Given the description of an element on the screen output the (x, y) to click on. 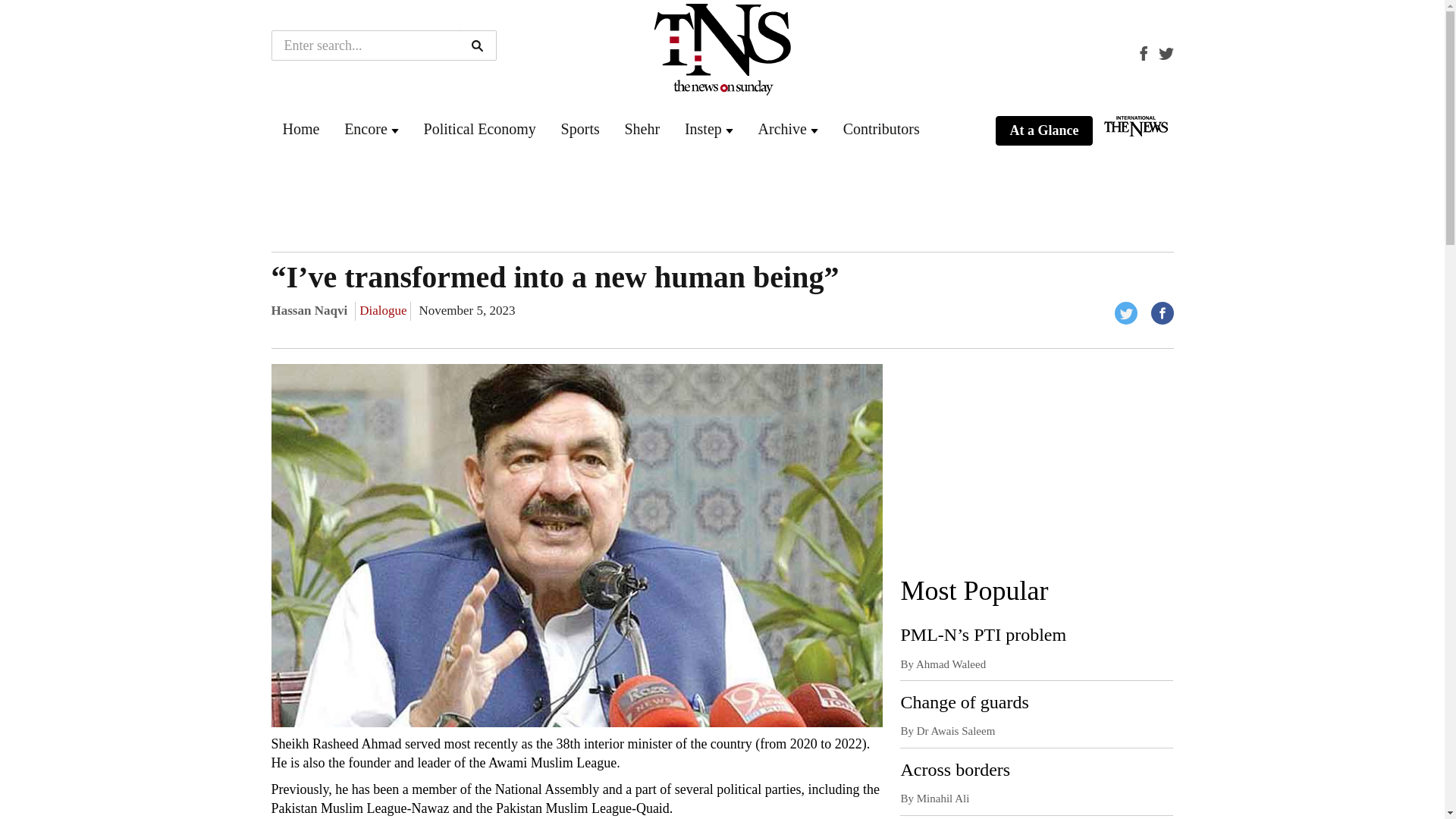
Shehr (641, 128)
Archive (782, 128)
Sports (579, 128)
Archive (782, 128)
By Ahmad Waleed (942, 664)
Encore (365, 128)
At a Glance (1043, 131)
Political-Economy (479, 128)
TNS (300, 128)
Change of guards (963, 701)
Home (300, 128)
Instep (703, 128)
Instep (703, 128)
Shehr (641, 128)
Sports (579, 128)
